Given the description of an element on the screen output the (x, y) to click on. 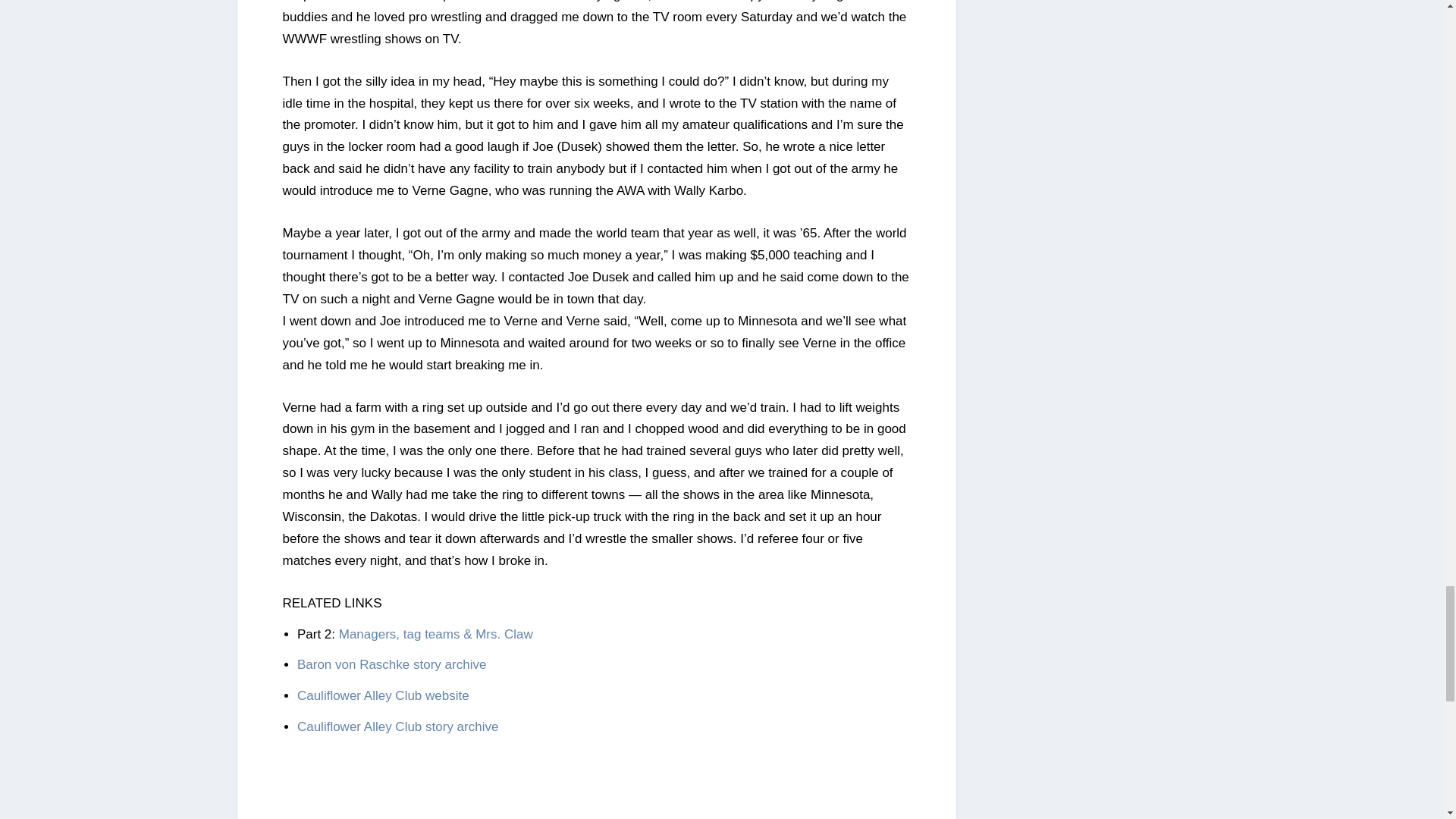
Cauliflower Alley Club story archive (398, 726)
Cauliflower Alley Club website (382, 695)
Baron von Raschke story archive (391, 664)
